Given the description of an element on the screen output the (x, y) to click on. 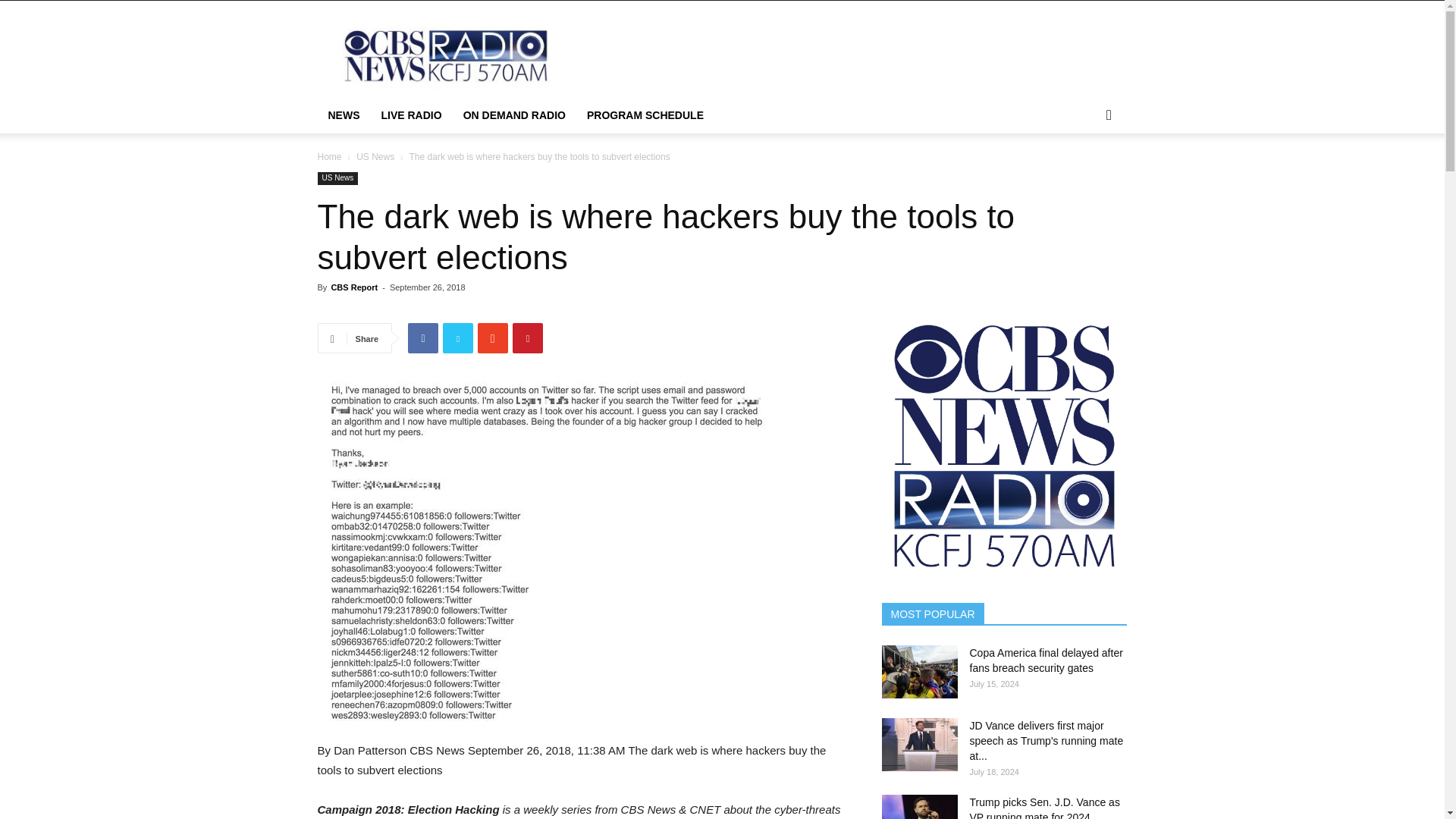
Copa America final delayed after fans breach security gates (918, 671)
US News (337, 178)
LIVE RADIO (410, 115)
Copa America final delayed after fans breach security gates (1045, 660)
View all posts in US News (375, 156)
CBS Report (353, 286)
PROGRAM SCHEDULE (645, 115)
US News (375, 156)
ON DEMAND RADIO (514, 115)
Home (328, 156)
Search (1085, 175)
NEWS (343, 115)
